Given the description of an element on the screen output the (x, y) to click on. 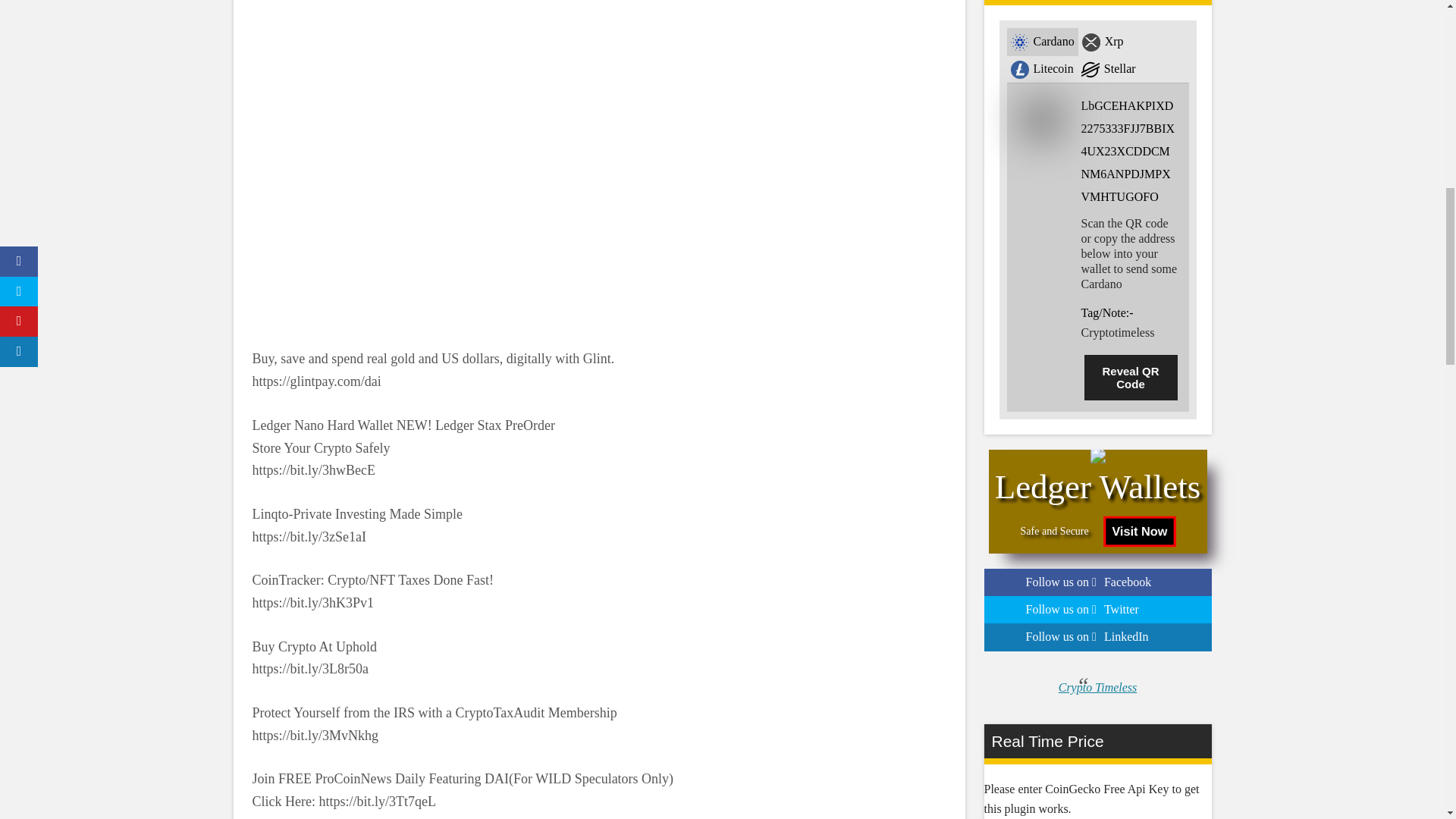
Visit Now (1133, 529)
